Given the description of an element on the screen output the (x, y) to click on. 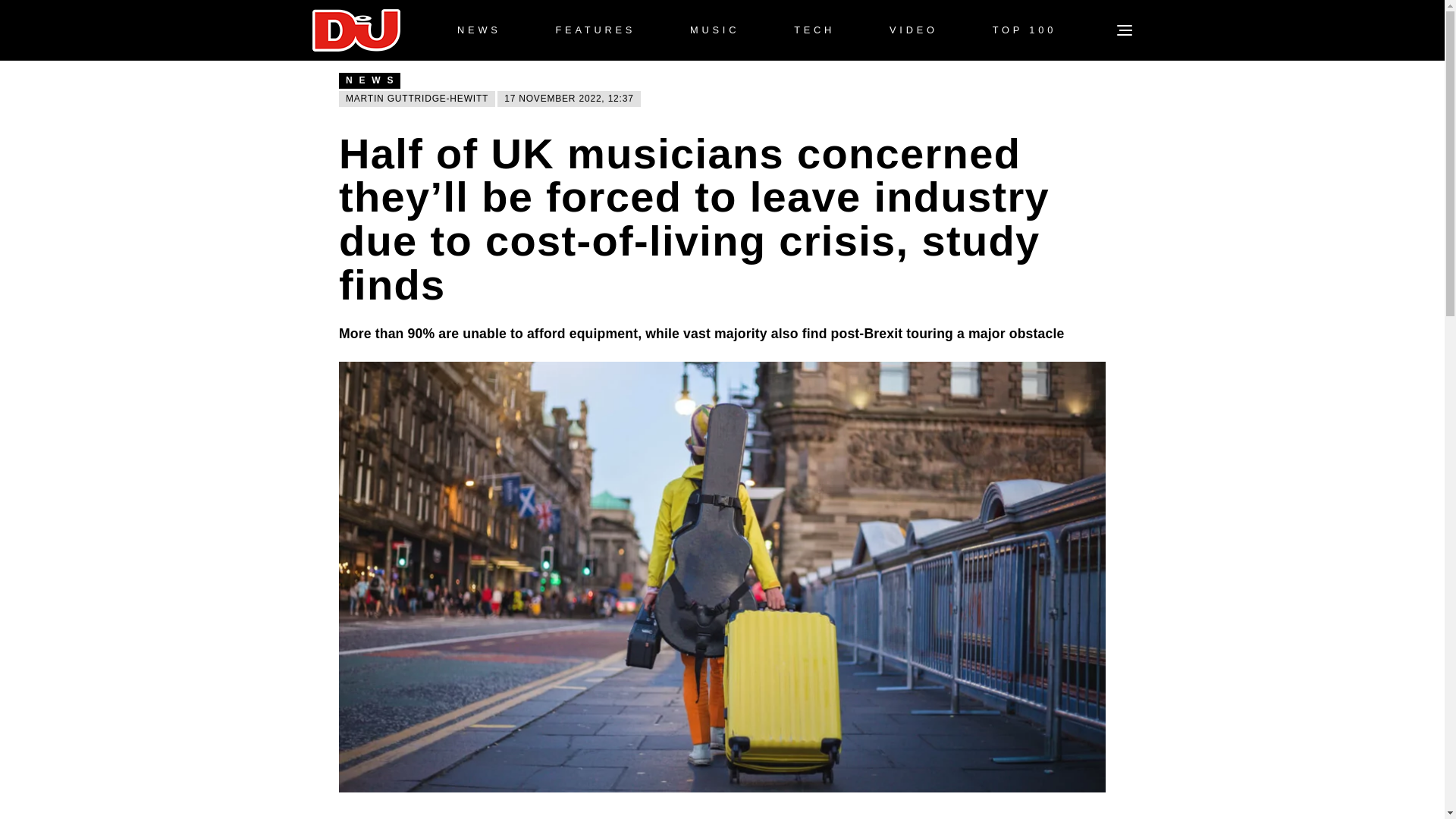
MUSIC (714, 29)
VIDEO (913, 29)
FEATURES (594, 29)
DJ Mag (356, 30)
TECH (813, 29)
NEWS (478, 29)
